Given the description of an element on the screen output the (x, y) to click on. 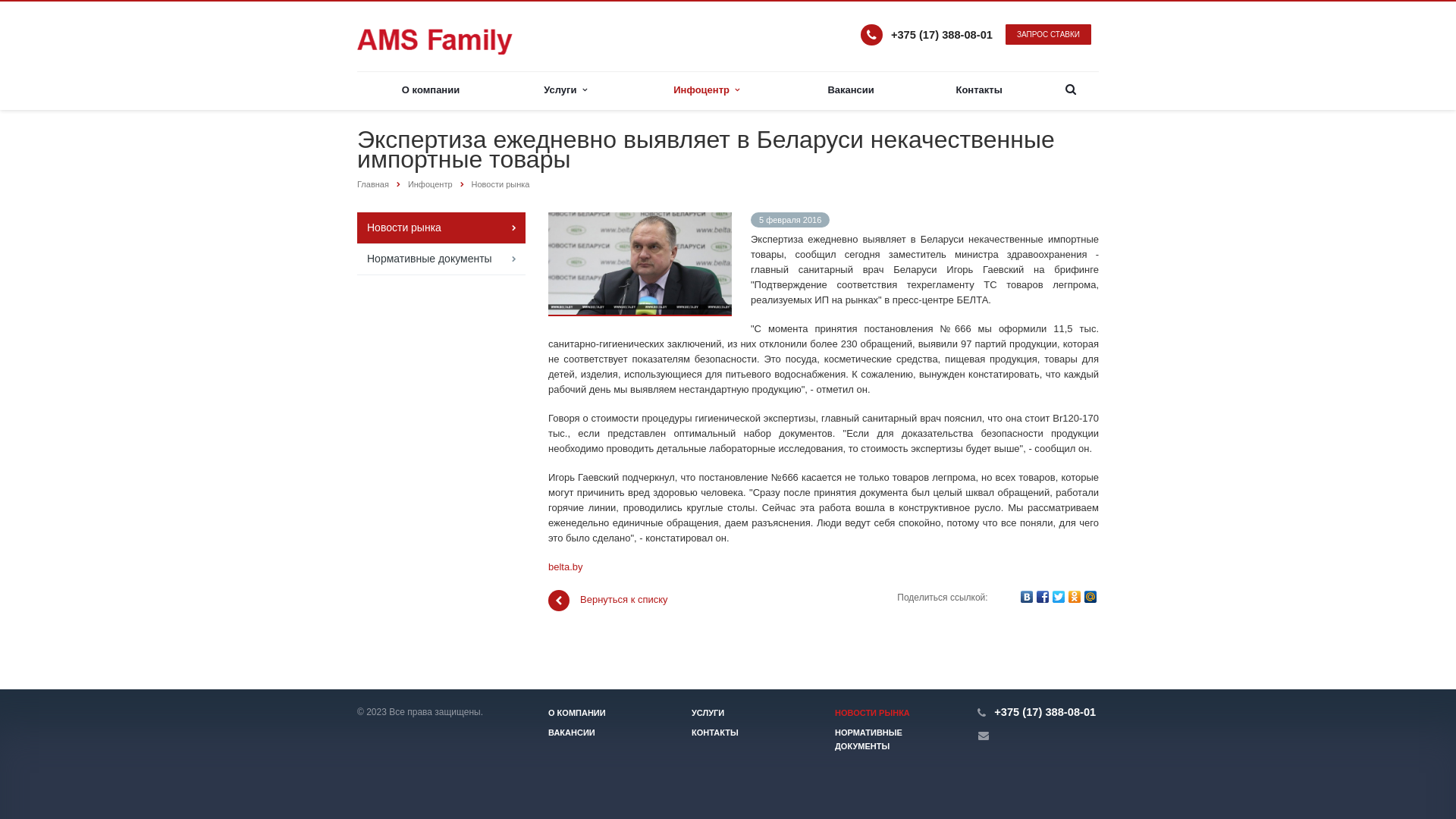
Facebook Element type: hover (1042, 596)
belta.by Element type: text (565, 566)
Twitter Element type: hover (1058, 596)
